Given the description of an element on the screen output the (x, y) to click on. 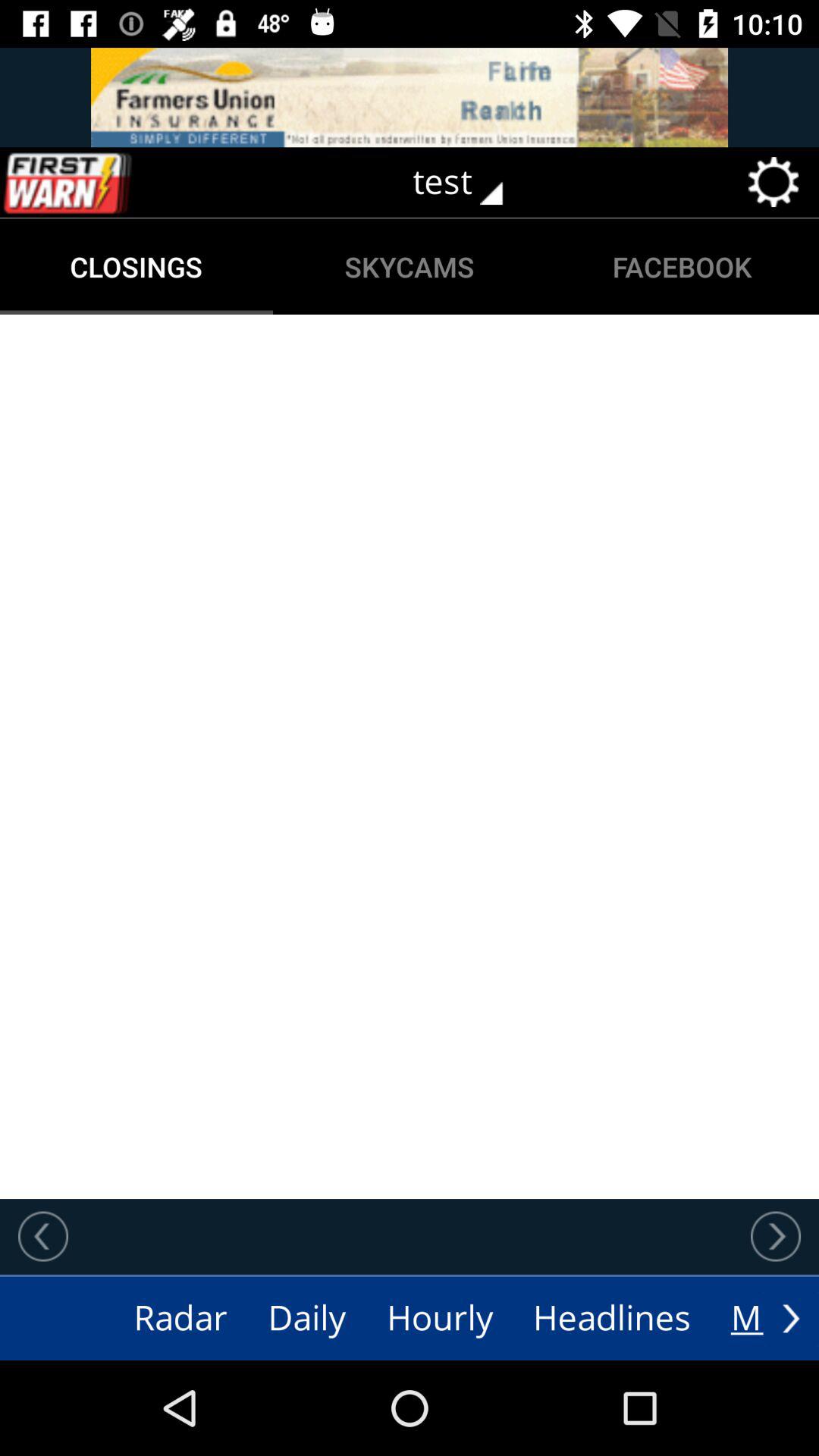
choose test icon (468, 182)
